Given the description of an element on the screen output the (x, y) to click on. 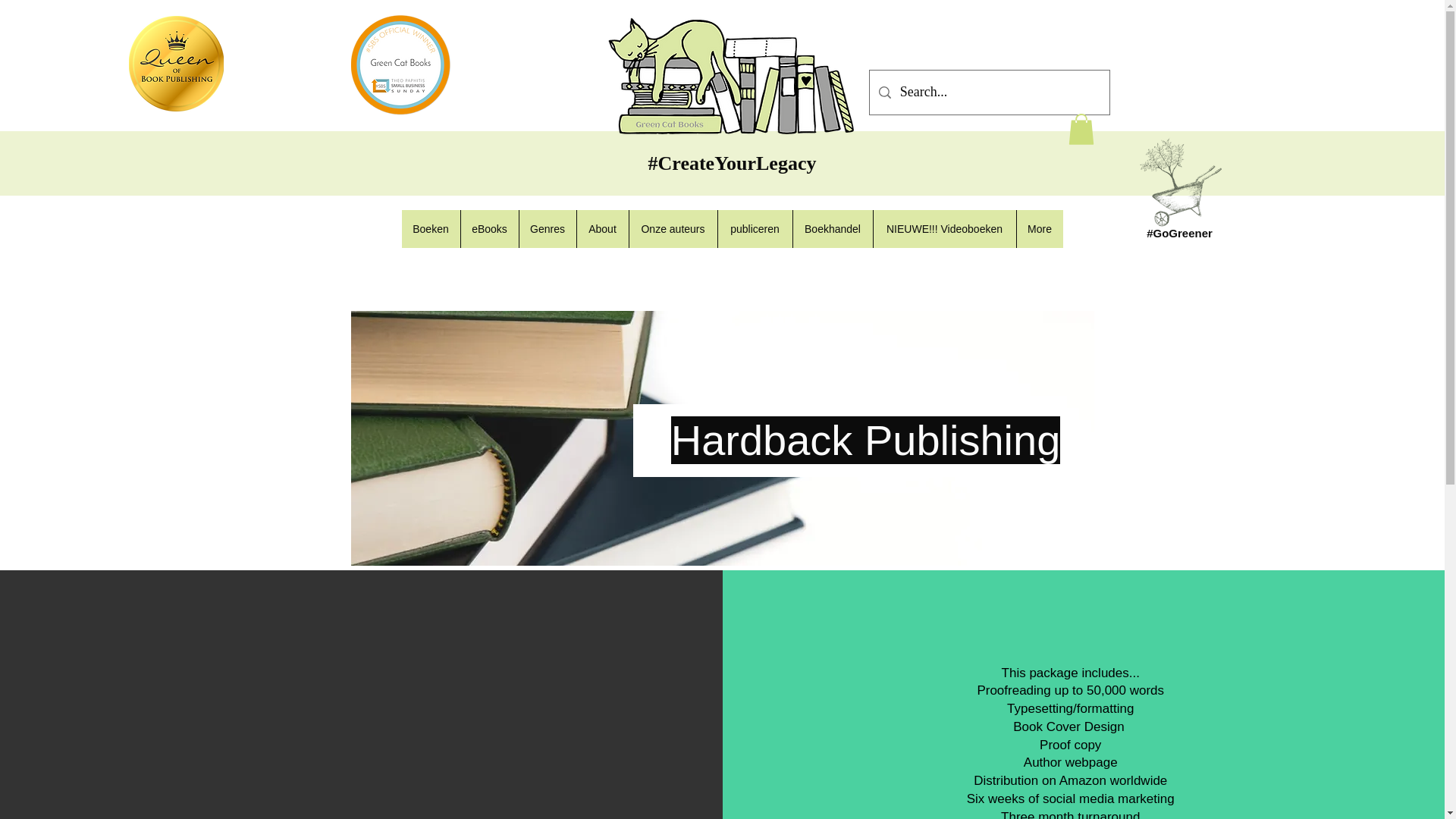
Boeken (430, 228)
Genres (547, 228)
eBooks (489, 228)
